Given the description of an element on the screen output the (x, y) to click on. 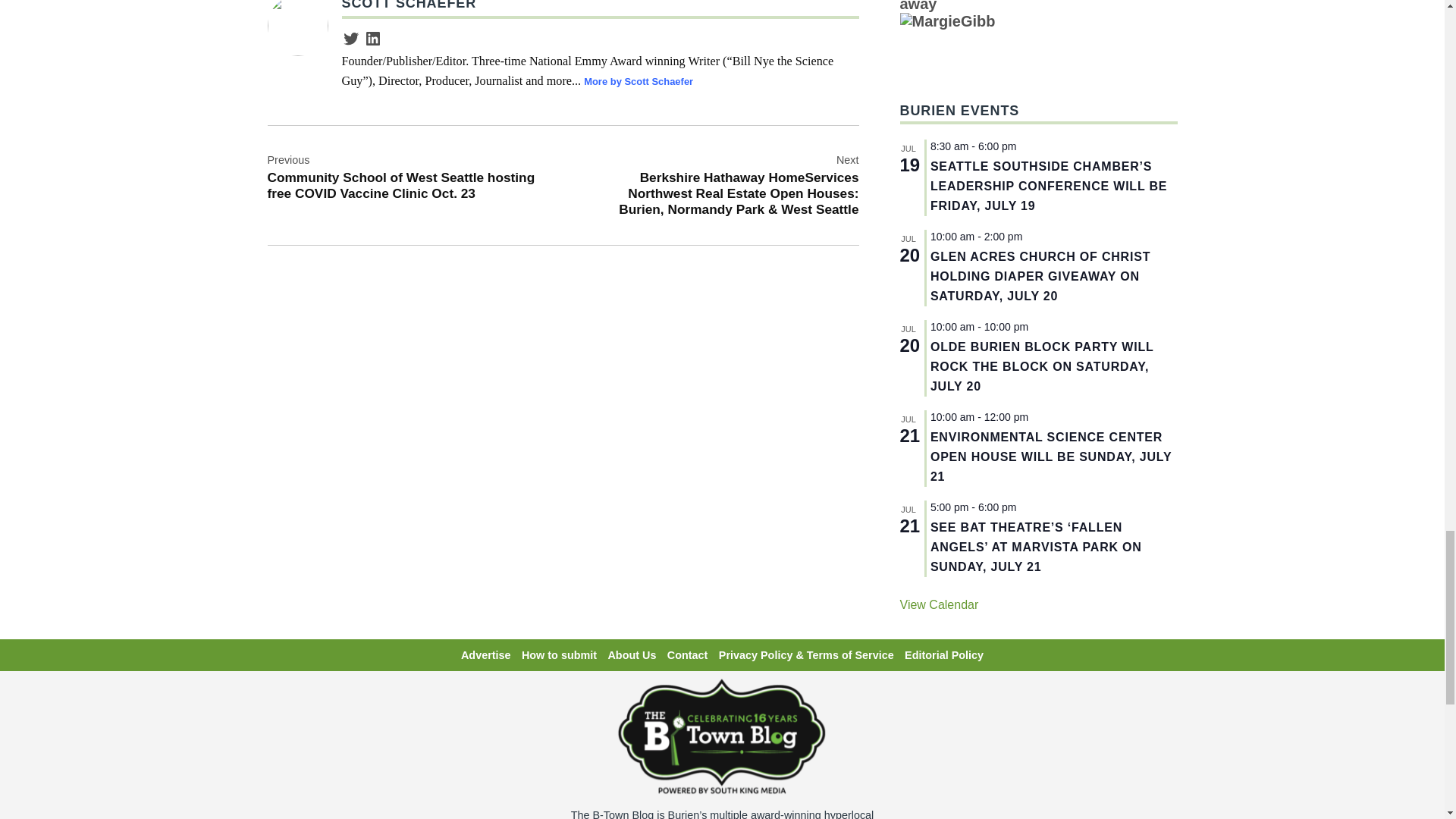
linkedin (372, 38)
twitter (349, 38)
